Given the description of an element on the screen output the (x, y) to click on. 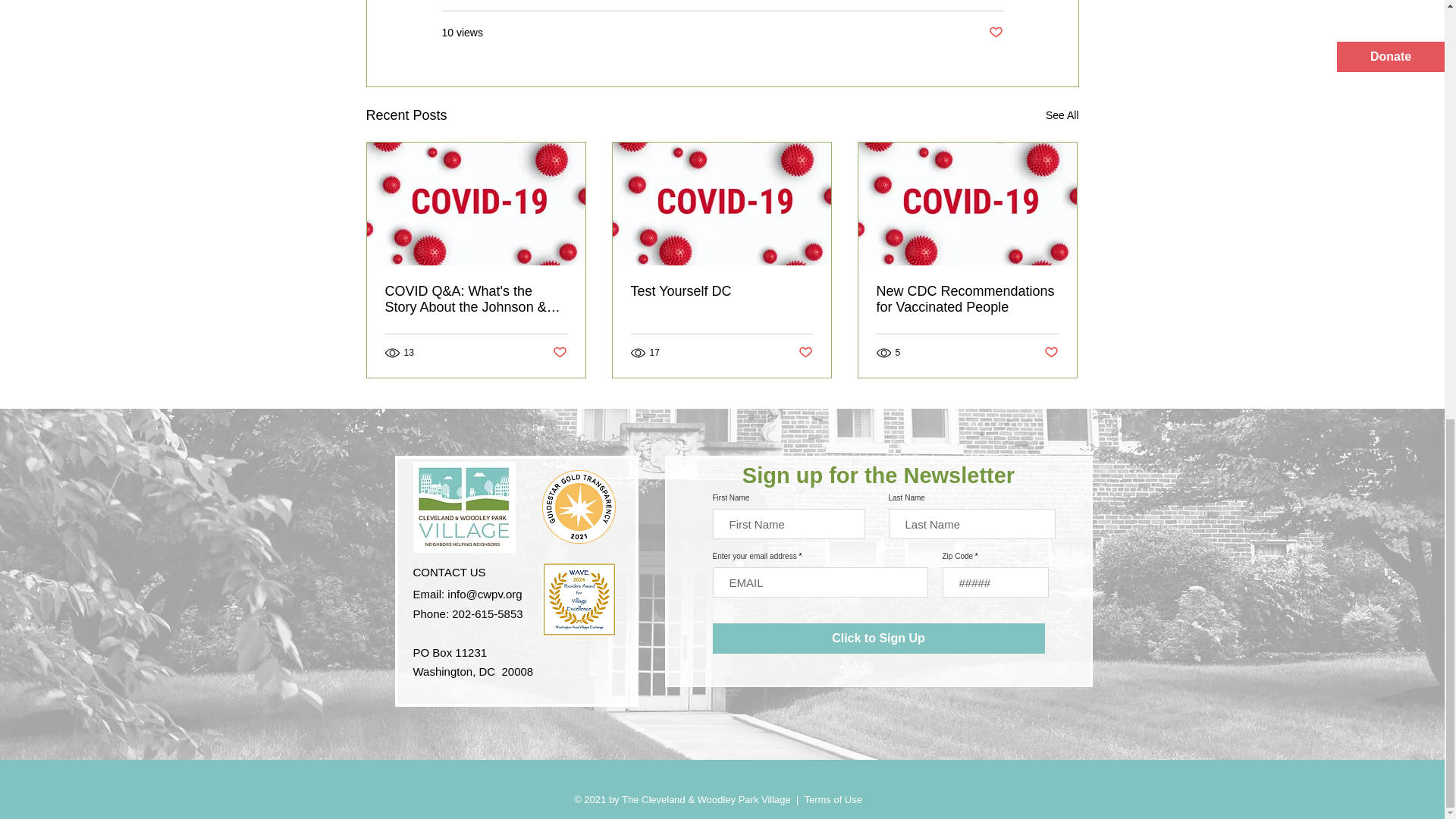
See All (1061, 115)
Post not marked as liked (995, 32)
